Given the description of an element on the screen output the (x, y) to click on. 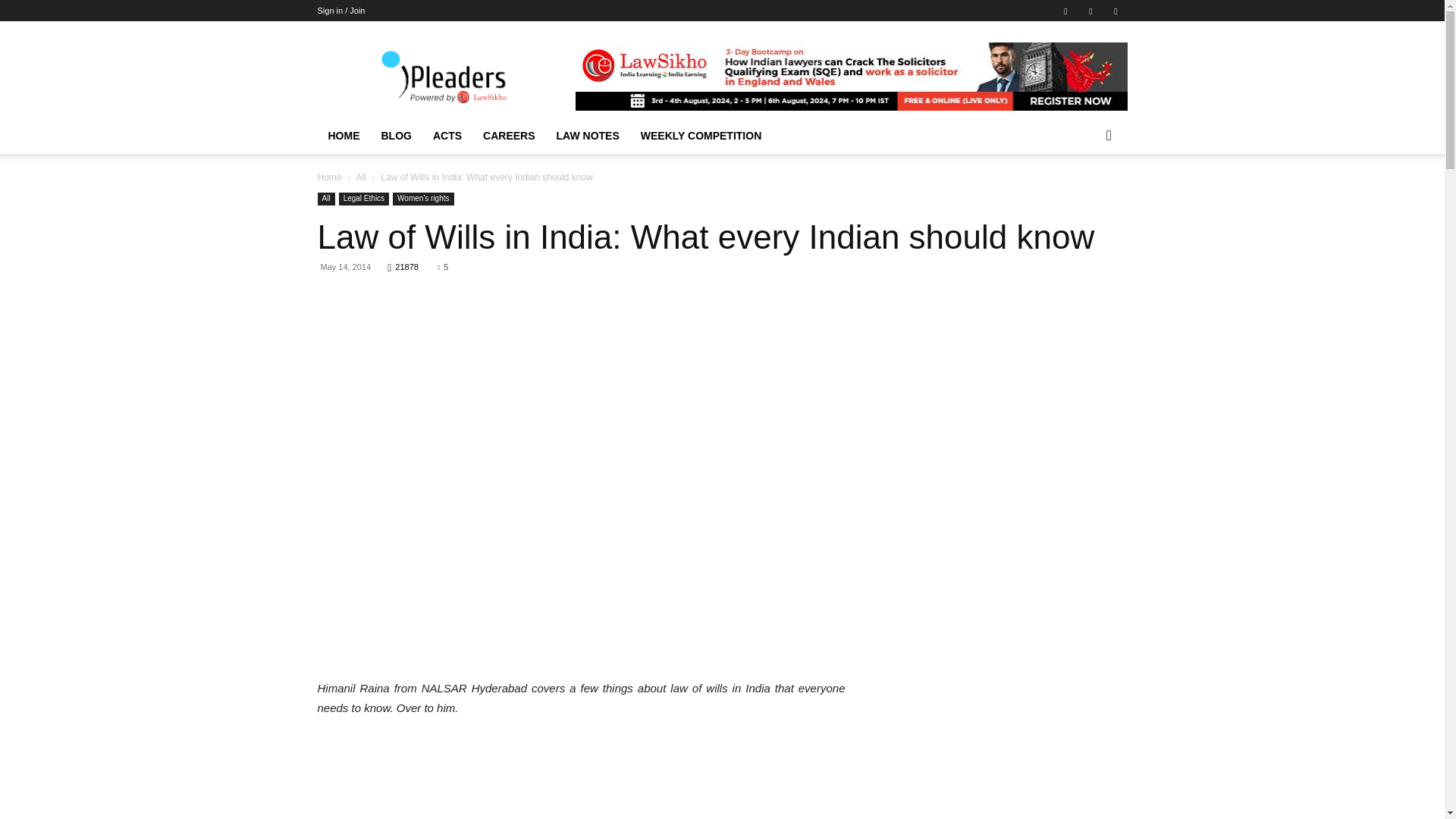
RSS (1090, 10)
View all posts in All (360, 176)
Facebook (1065, 10)
Twitter (1114, 10)
